Given the description of an element on the screen output the (x, y) to click on. 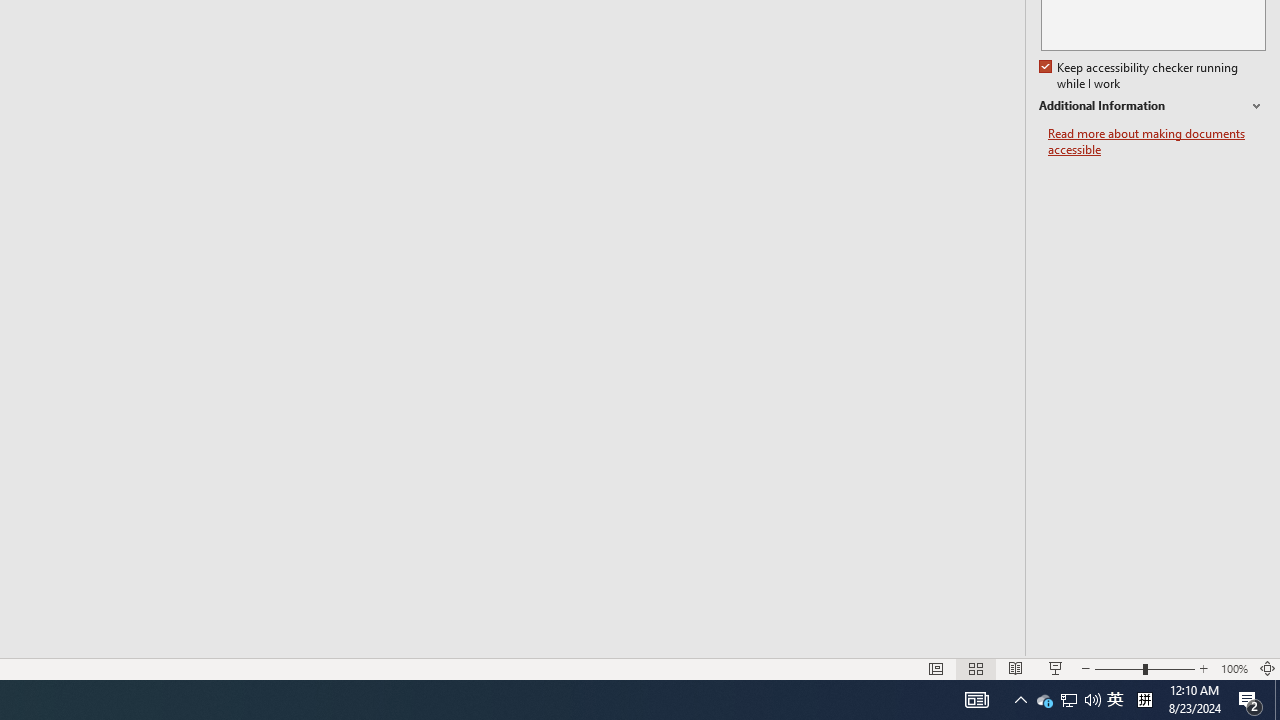
Zoom 100% (1234, 668)
Keep accessibility checker running while I work (1140, 76)
Read more about making documents accessible (1156, 142)
Additional Information (1152, 106)
